Given the description of an element on the screen output the (x, y) to click on. 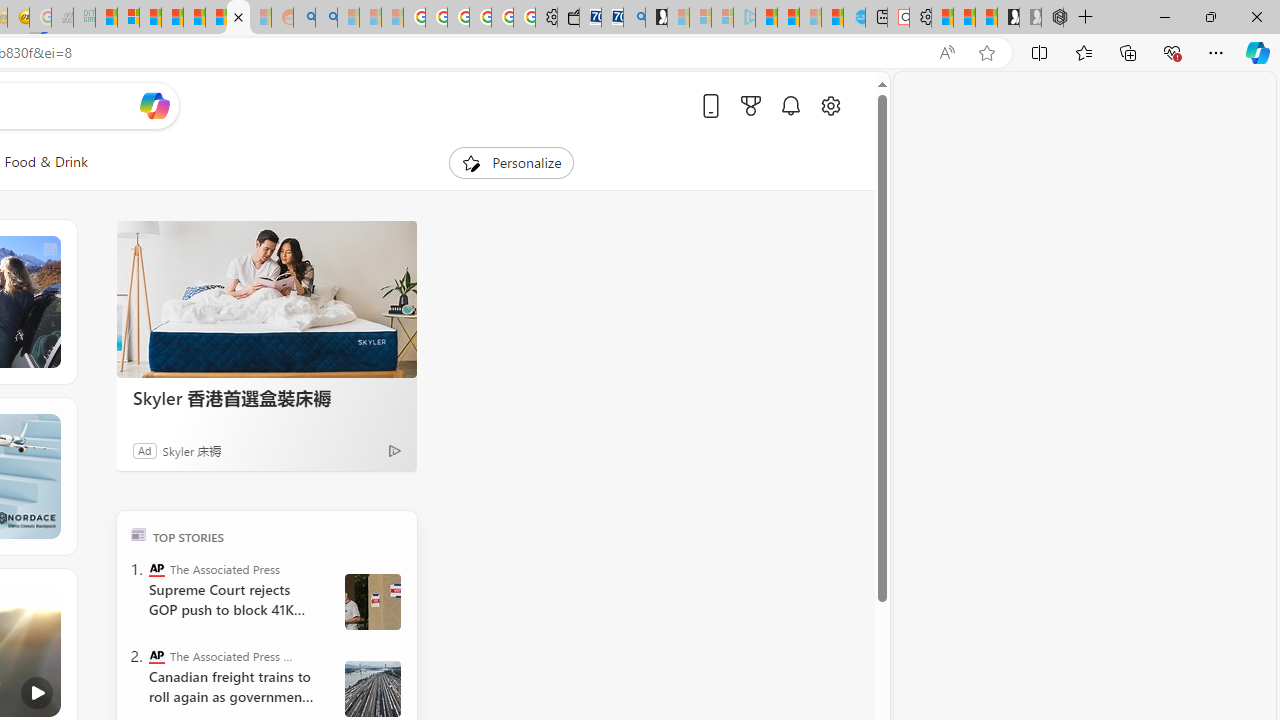
The Associated Press - Business News (156, 655)
